Given the description of an element on the screen output the (x, y) to click on. 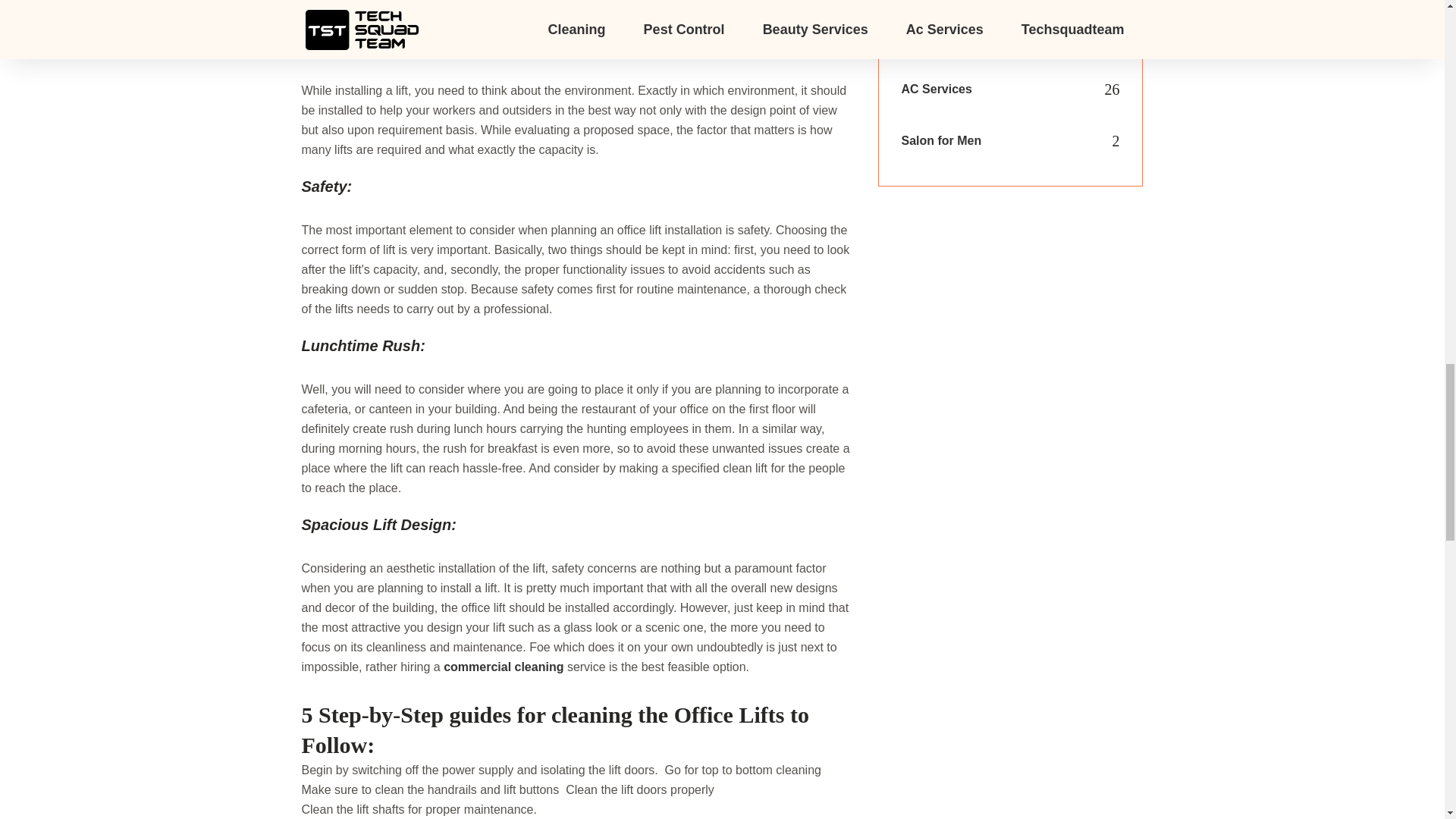
commercial cleaning (503, 666)
Painting Services (951, 2)
commercial cleaning services (626, 10)
